Given the description of an element on the screen output the (x, y) to click on. 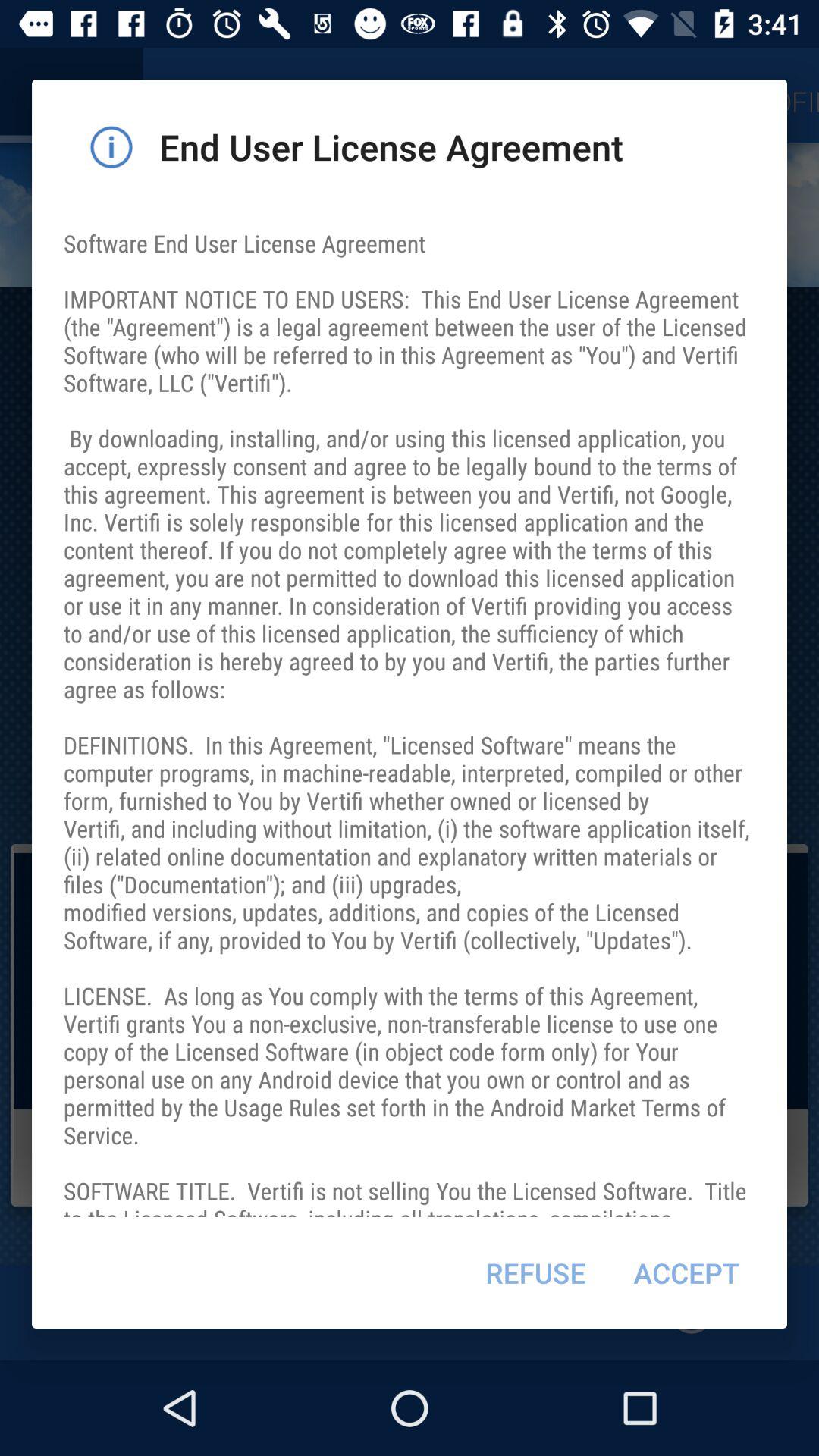
select icon below the software end user (535, 1272)
